Given the description of an element on the screen output the (x, y) to click on. 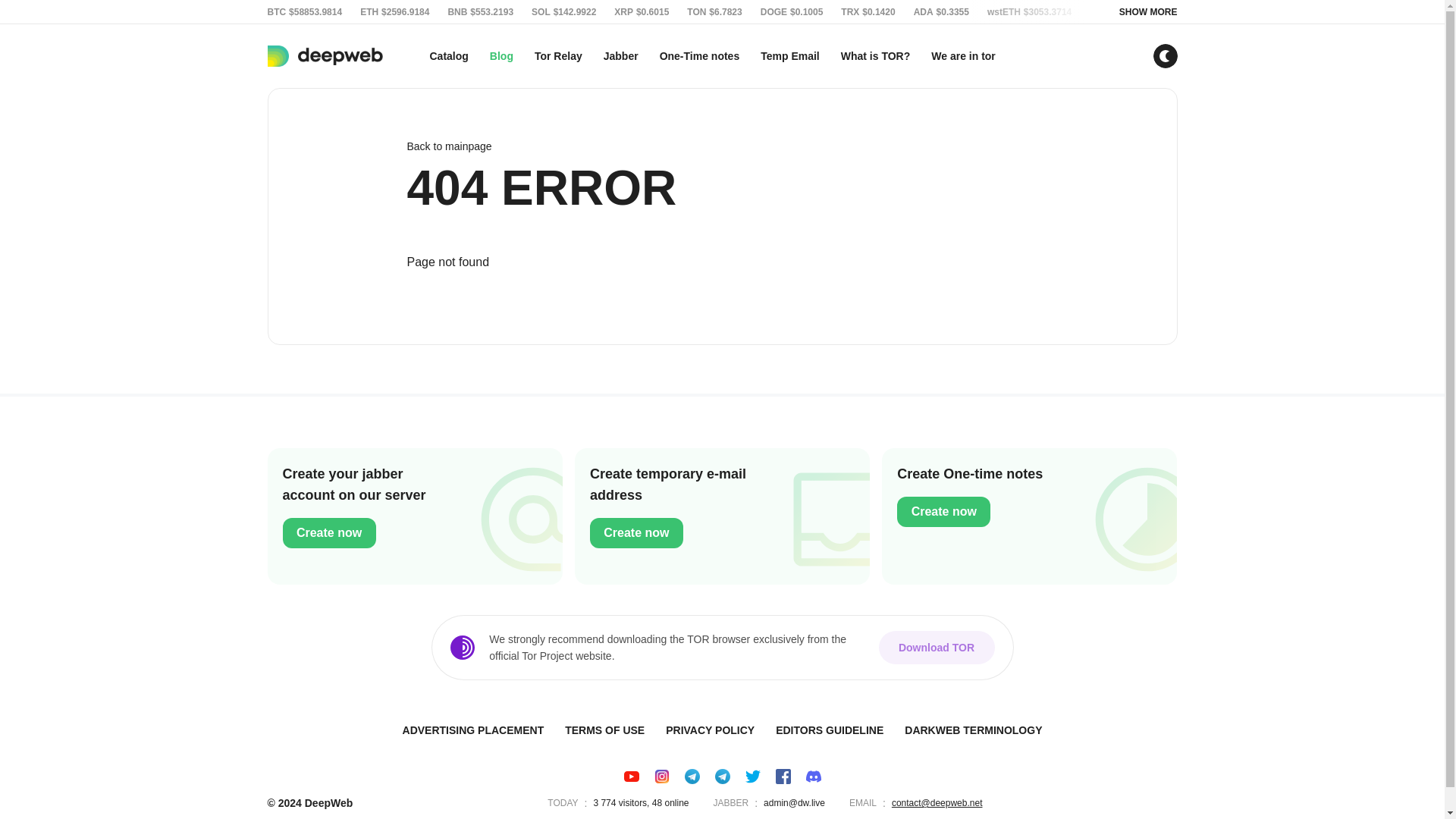
EDITORS GUIDELINE (829, 730)
Download TOR (935, 647)
We are in tor (414, 515)
Jabber (963, 56)
YouTube (722, 515)
TERMS OF USE (620, 56)
Create now (631, 776)
PRIVACY POLICY (604, 730)
